Given the description of an element on the screen output the (x, y) to click on. 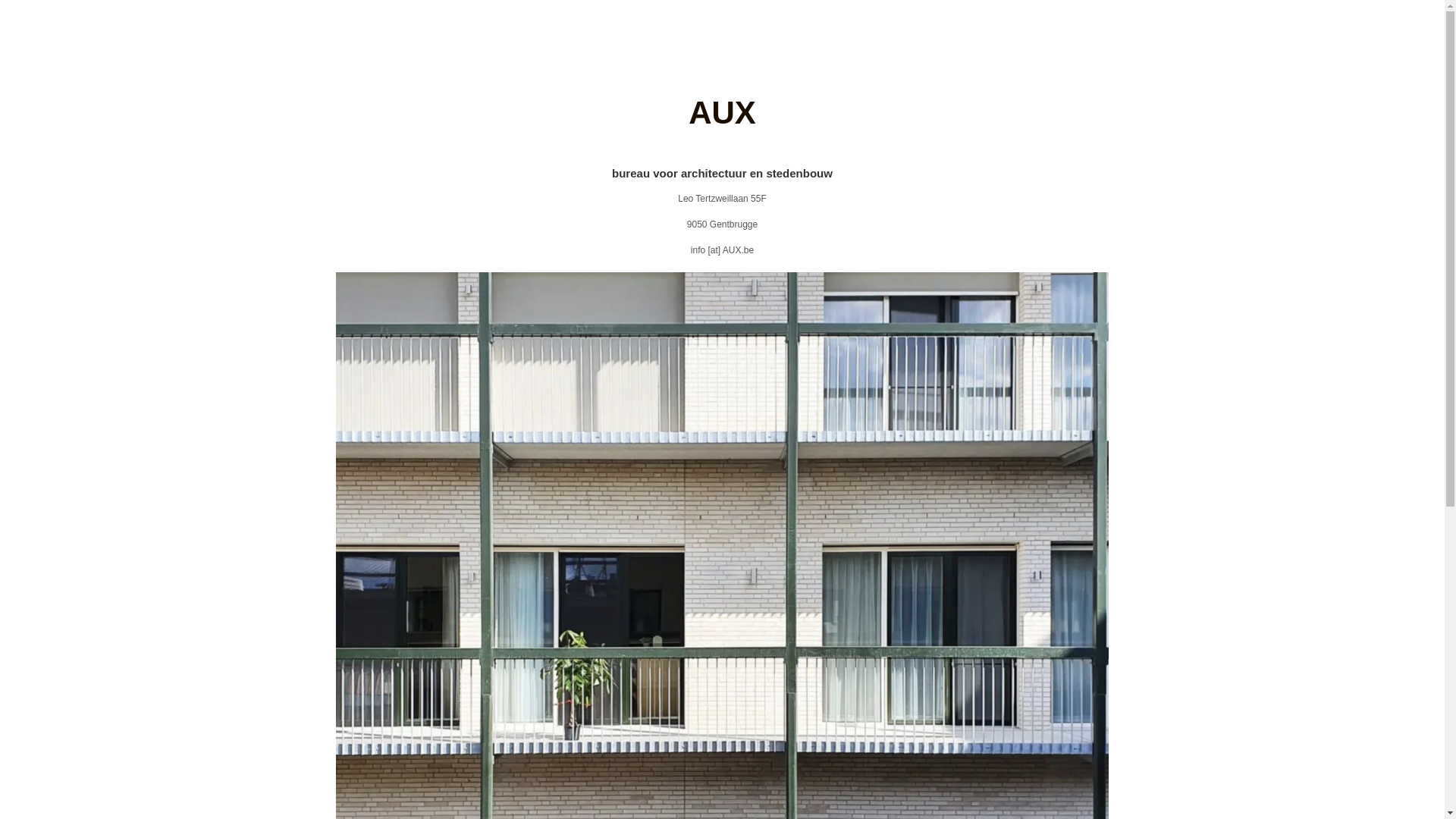
AUX Element type: text (722, 112)
